Given the description of an element on the screen output the (x, y) to click on. 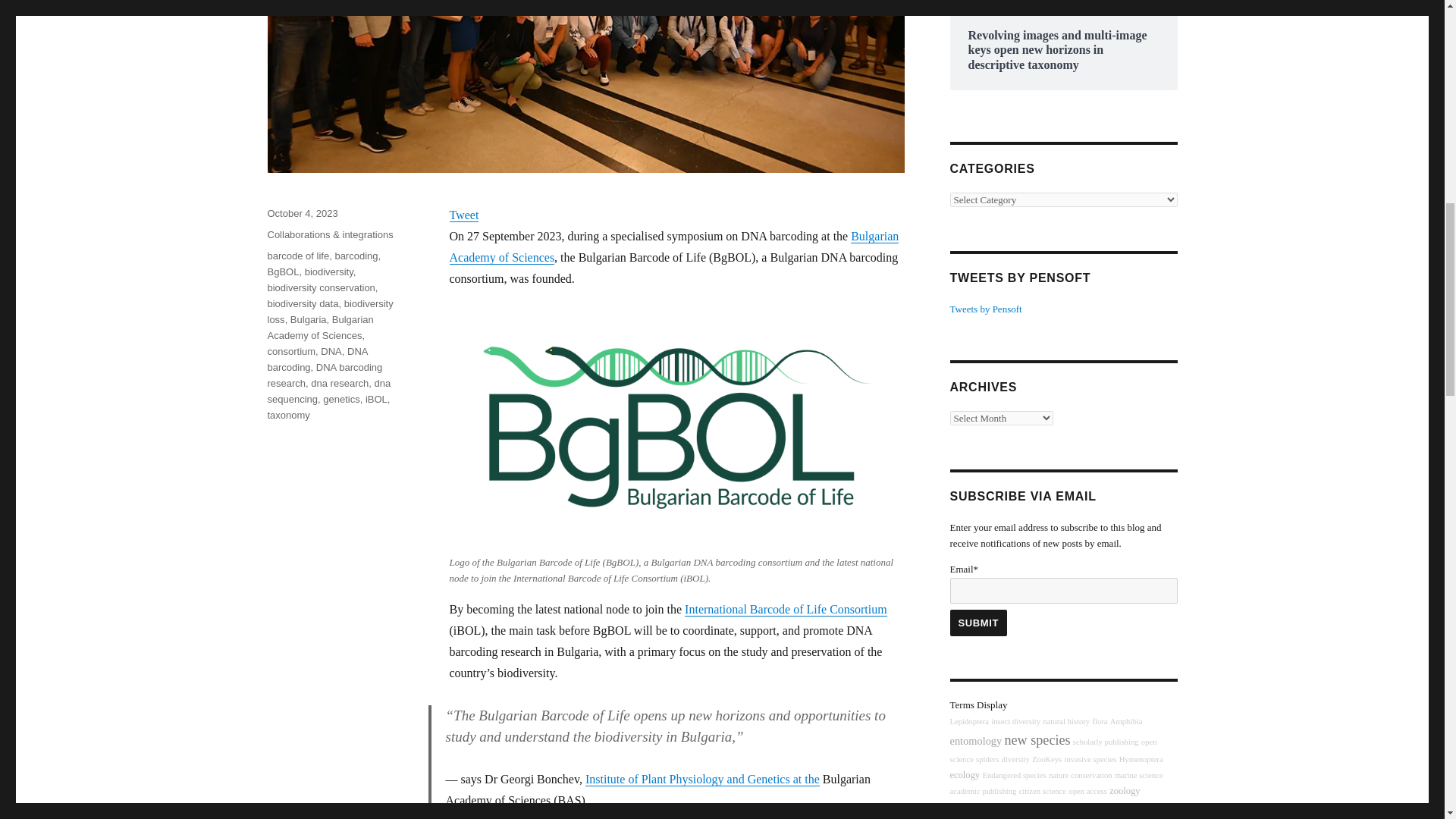
Institute of Plant Physiology and Genetics at the (702, 778)
biodiversity loss (329, 311)
28 topics (1065, 721)
BgBOL (282, 271)
35 topics (1015, 759)
Bulgarian Academy of Sciences (673, 246)
65 topics (1141, 759)
International Barcode of Life Consortium (785, 608)
222 topics (1037, 739)
October 4, 2023 (301, 213)
